Given the description of an element on the screen output the (x, y) to click on. 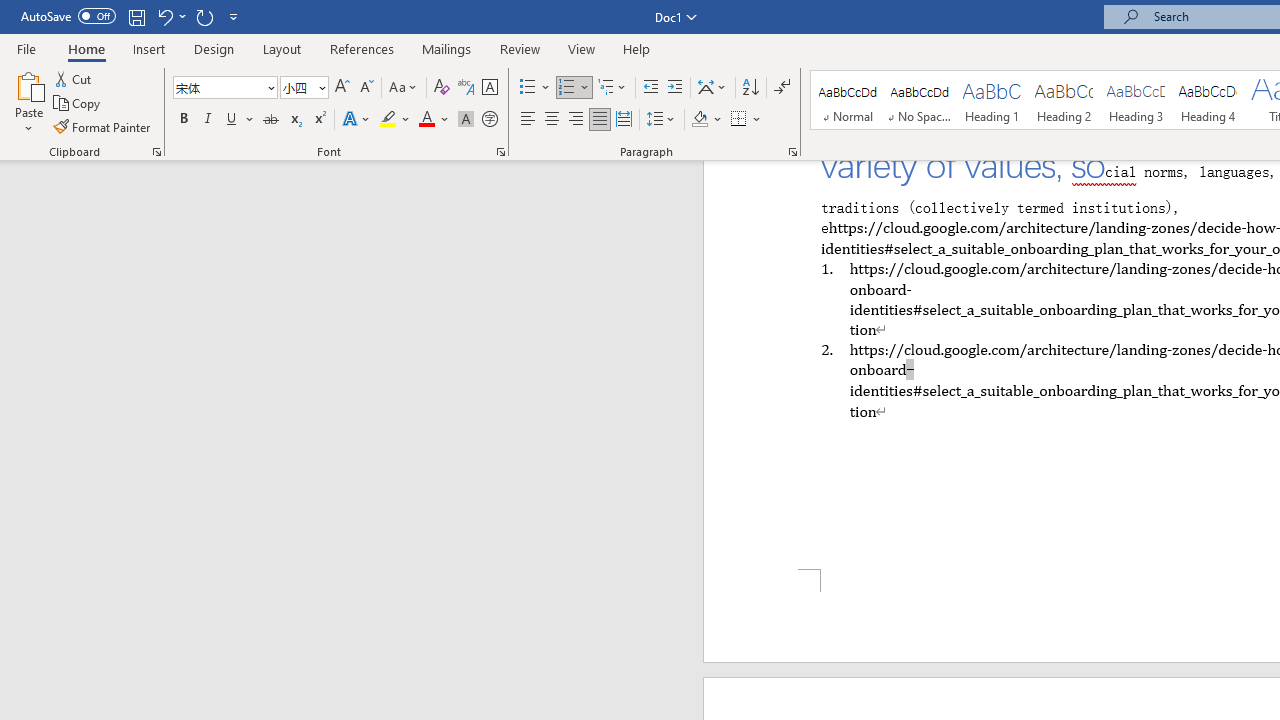
Mailings (447, 48)
AutoSave (68, 16)
Font Color Automatic (426, 119)
Numbering (566, 87)
Bullets (535, 87)
